Given the description of an element on the screen output the (x, y) to click on. 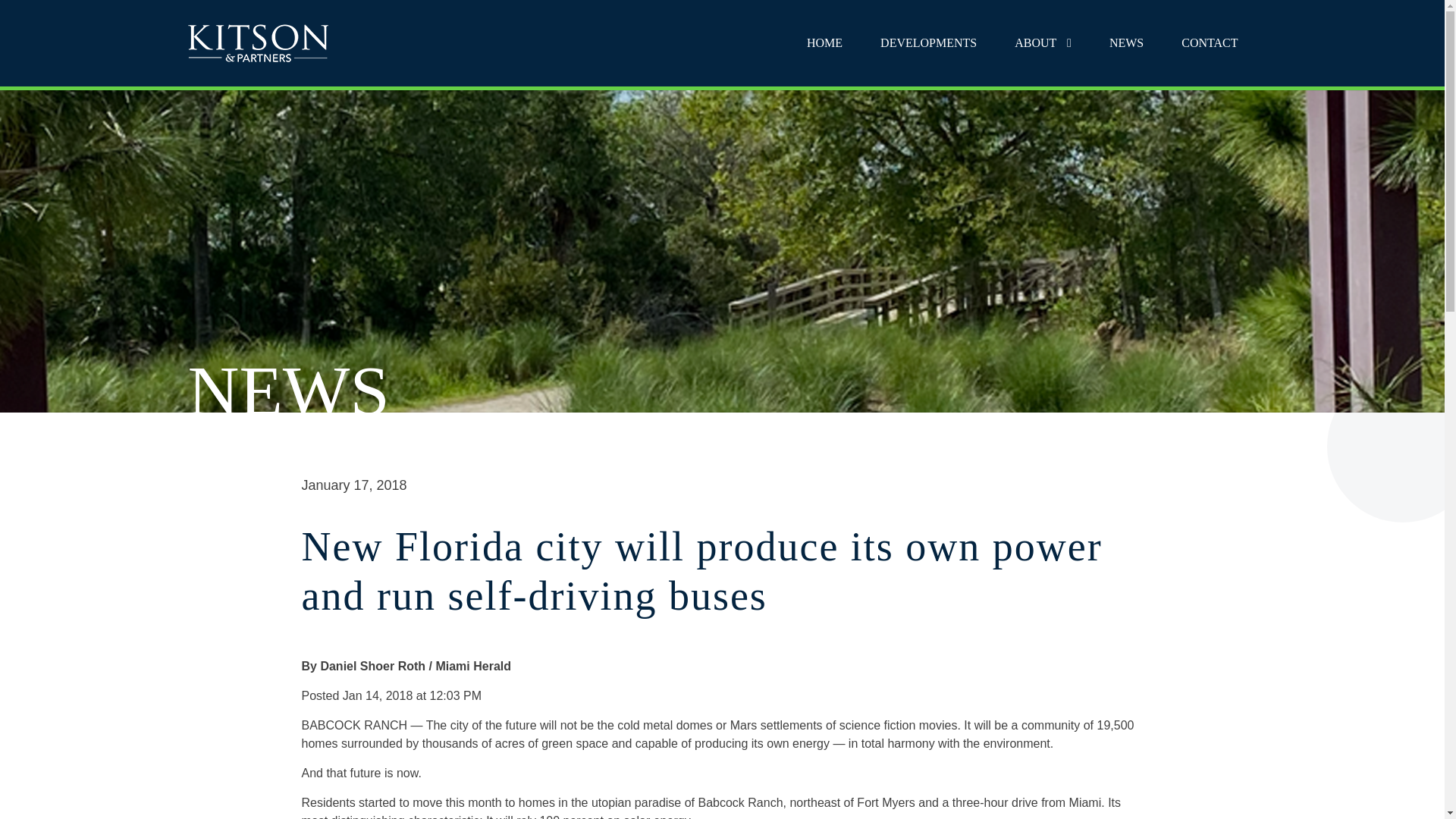
DEVELOPMENTS (927, 43)
CONTACT (1209, 43)
NEWS (1126, 43)
HOME (824, 43)
ABOUT (1042, 43)
